Given the description of an element on the screen output the (x, y) to click on. 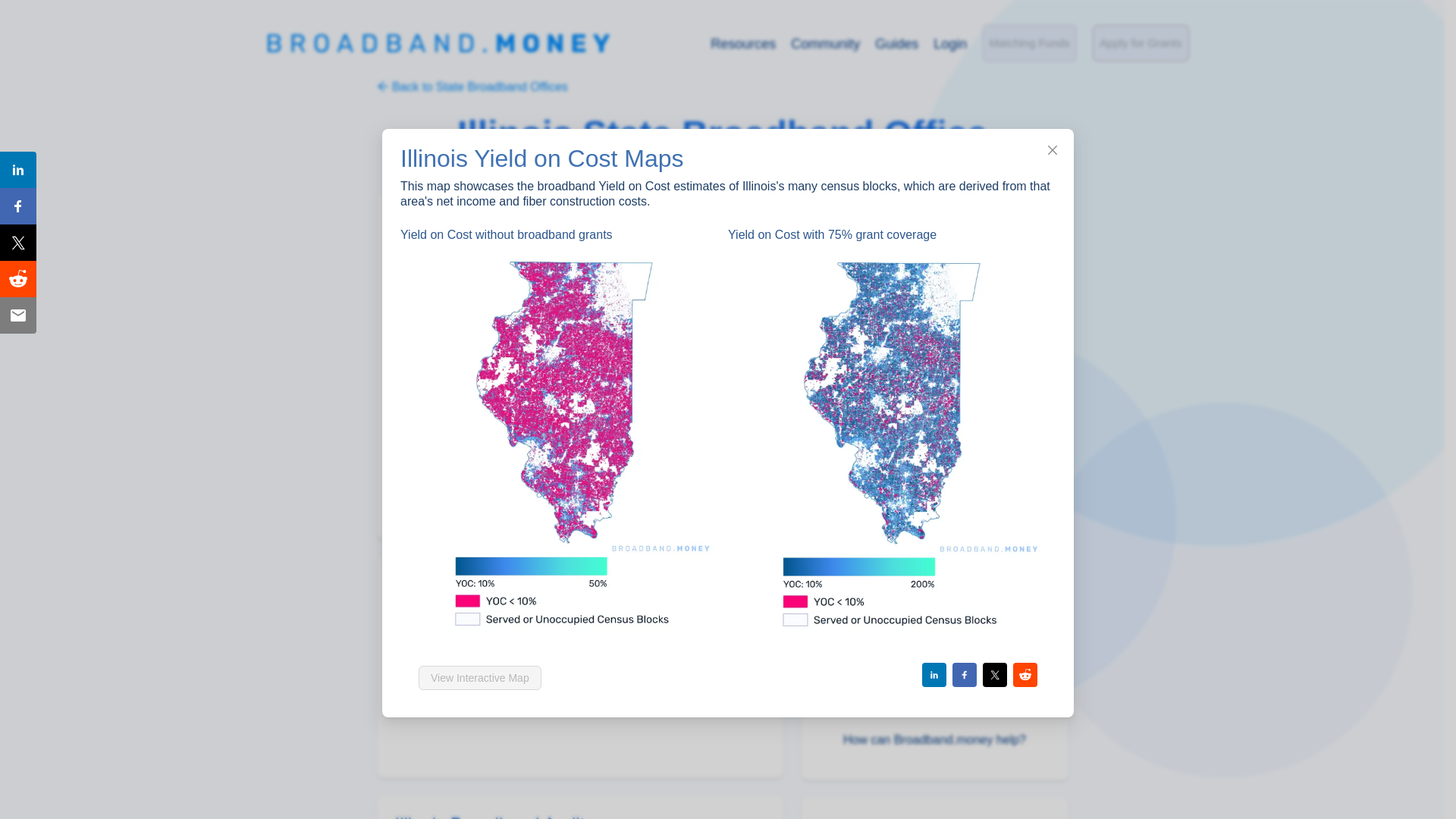
LinkedIn (866, 533)
Agency Website (886, 321)
Back to State Broadband Offices (471, 86)
Guides (896, 43)
Broadband Map (886, 382)
Apply for Grants (933, 615)
Illinois Broadband Audit (579, 816)
Broadband Office Website (933, 674)
Matching Funds (913, 352)
Twitter (1029, 42)
Draft BEAD Initial Proposal Vol. 1 (861, 564)
Draft BEAD Initial Proposal Vol. 2 (933, 412)
Matching Funds (933, 443)
Apply for Grants (1029, 43)
